Given the description of an element on the screen output the (x, y) to click on. 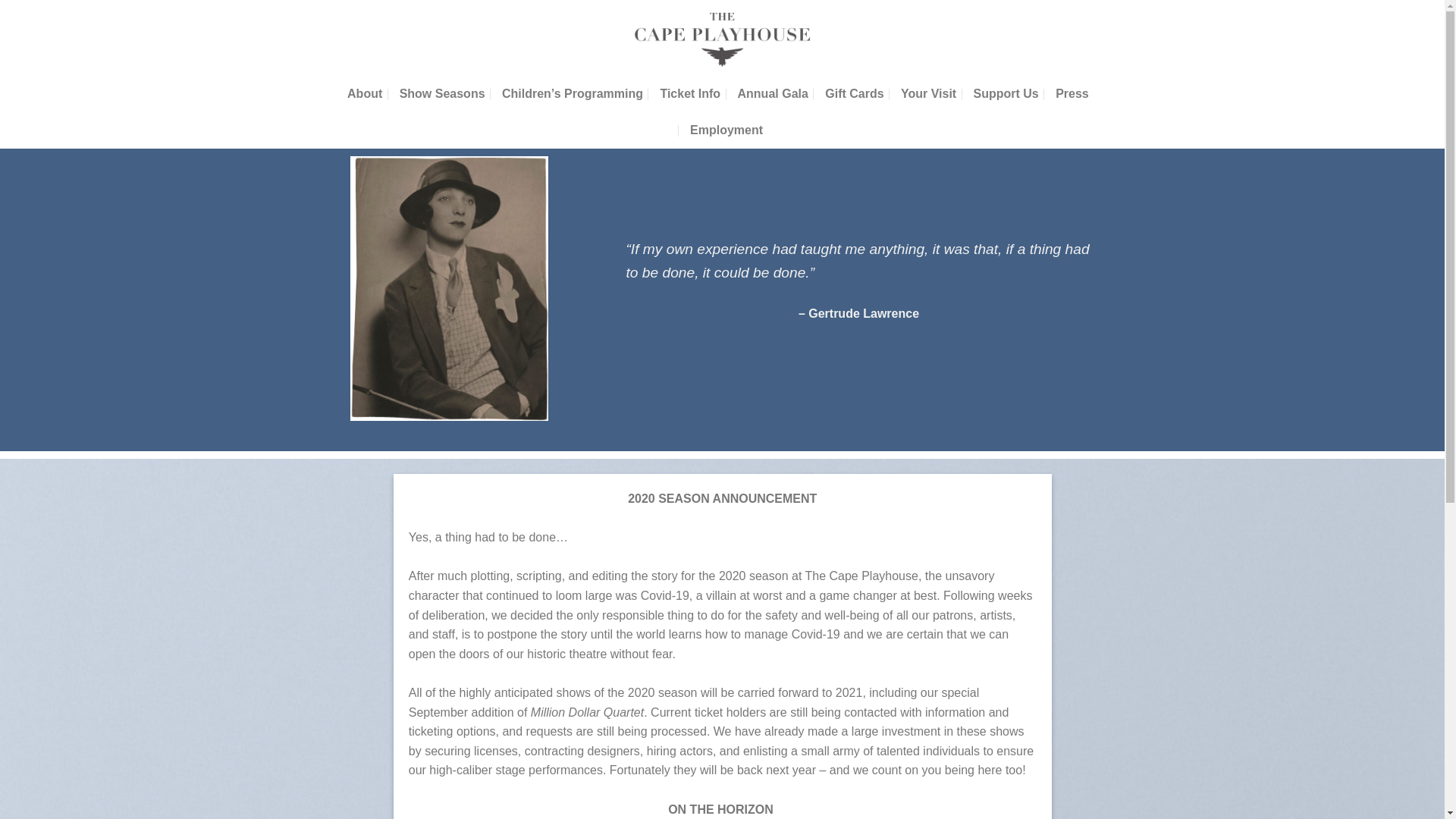
About (364, 94)
Your Visit (928, 94)
Show Seasons (441, 94)
Annual Gala (773, 94)
Ticket Info (689, 94)
Gift Cards (854, 94)
Support Us (1006, 94)
Press (1072, 94)
